Given the description of an element on the screen output the (x, y) to click on. 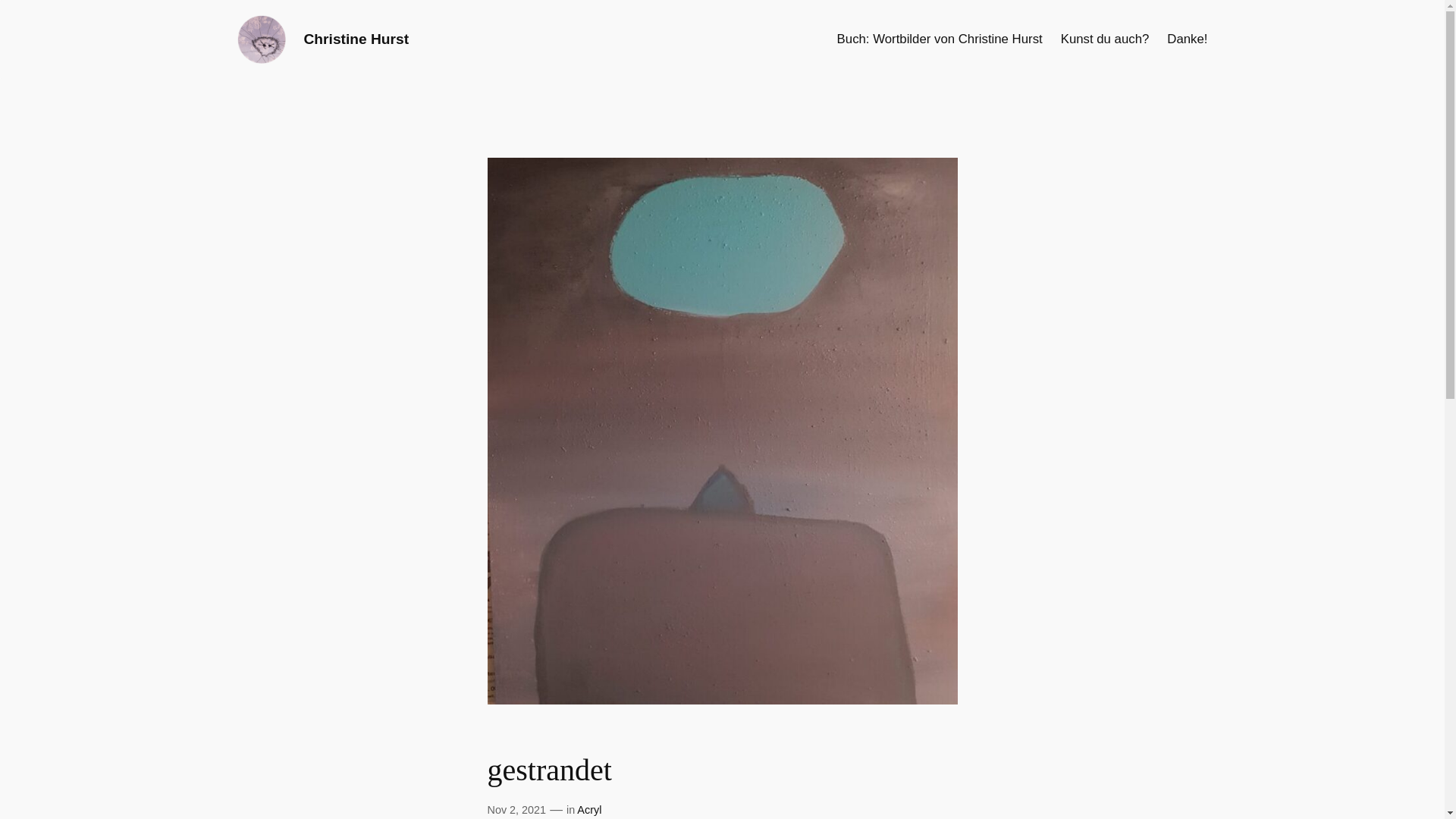
Acryl Element type: text (589, 809)
Buch: Wortbilder von Christine Hurst Element type: text (939, 39)
Christine Hurst Element type: text (355, 39)
Kunst du auch? Element type: text (1104, 39)
Danke! Element type: text (1187, 39)
Nov 2, 2021 Element type: text (516, 809)
